Given the description of an element on the screen output the (x, y) to click on. 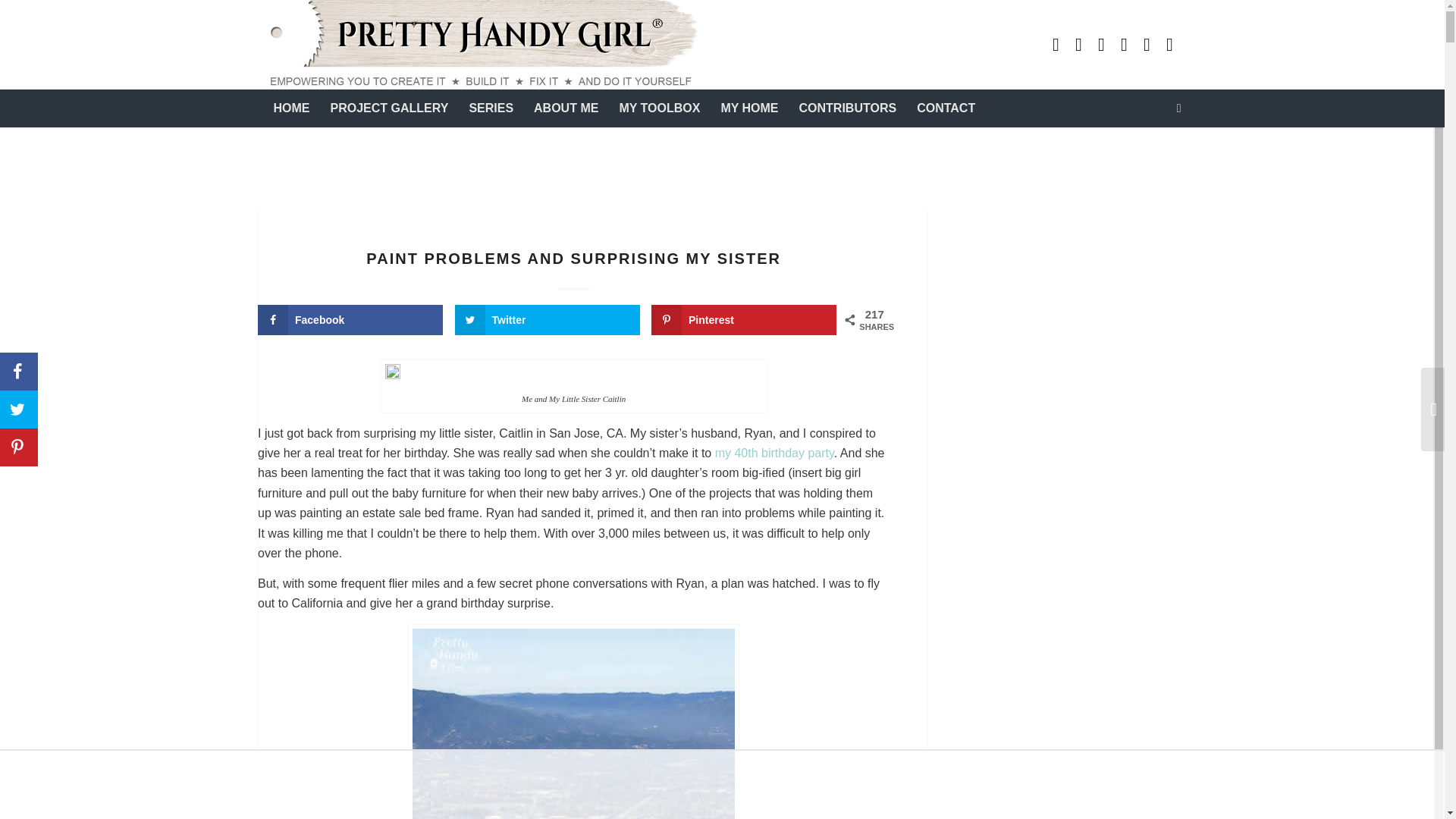
PROJECT GALLERY (389, 108)
HOME (291, 108)
MY HOME (748, 108)
Facebook (1146, 44)
Instagram (1124, 44)
Share on Facebook (349, 319)
Pinterest (1101, 44)
Youtube (1056, 44)
SERIES (490, 108)
CONTACT (945, 108)
ABOUT ME (565, 108)
MY TOOLBOX (659, 108)
Twitter (1169, 44)
CONTRIBUTORS (848, 108)
